Given the description of an element on the screen output the (x, y) to click on. 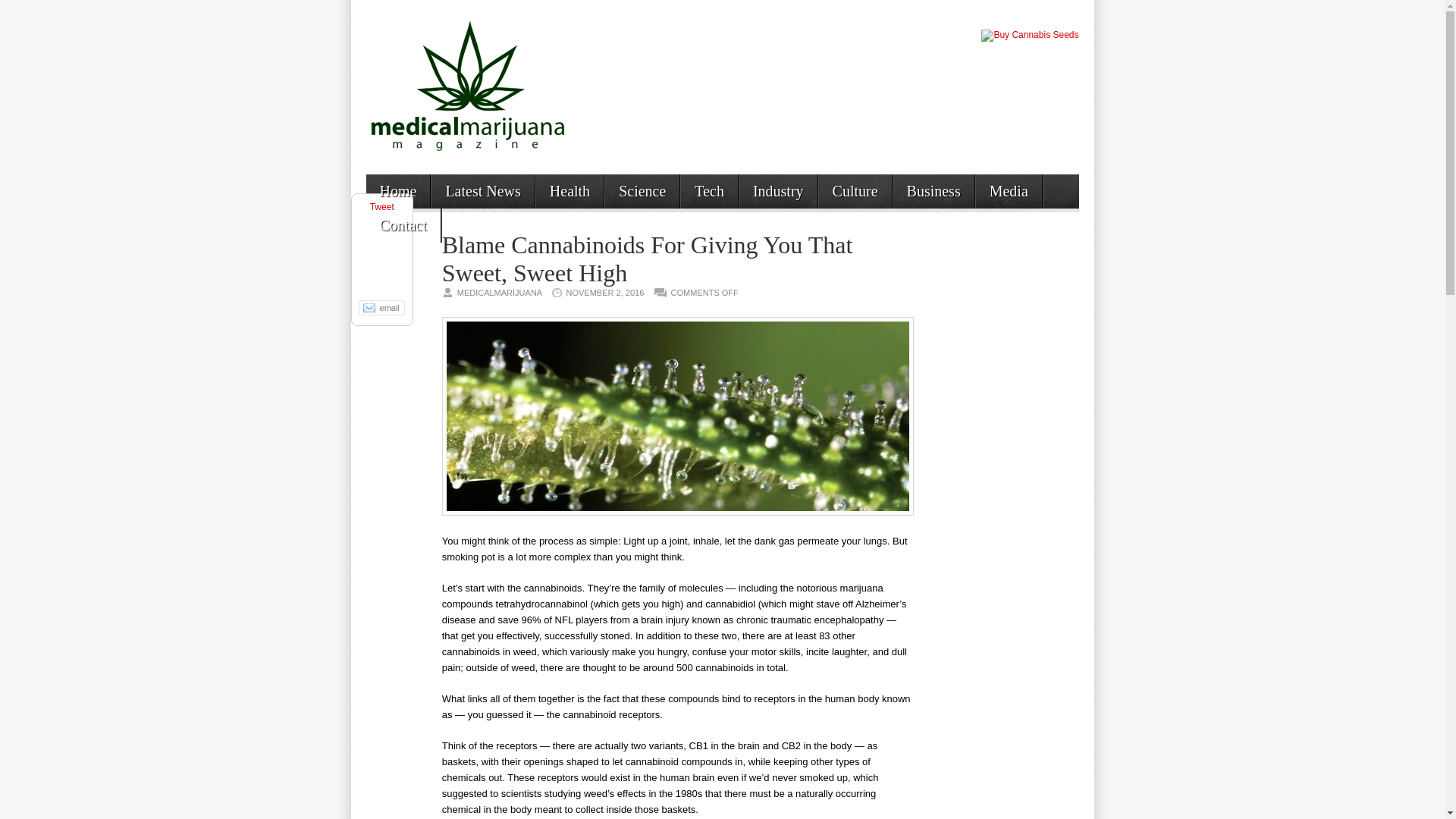
Tech (709, 191)
Contact (402, 224)
Science (642, 191)
Share on Tumblr (382, 282)
Culture (854, 191)
Business (933, 191)
Share on Tumblr (382, 282)
Industry (777, 191)
Health (569, 191)
Home (397, 191)
Media (1008, 191)
Tweet (381, 206)
Latest News (482, 191)
